Given the description of an element on the screen output the (x, y) to click on. 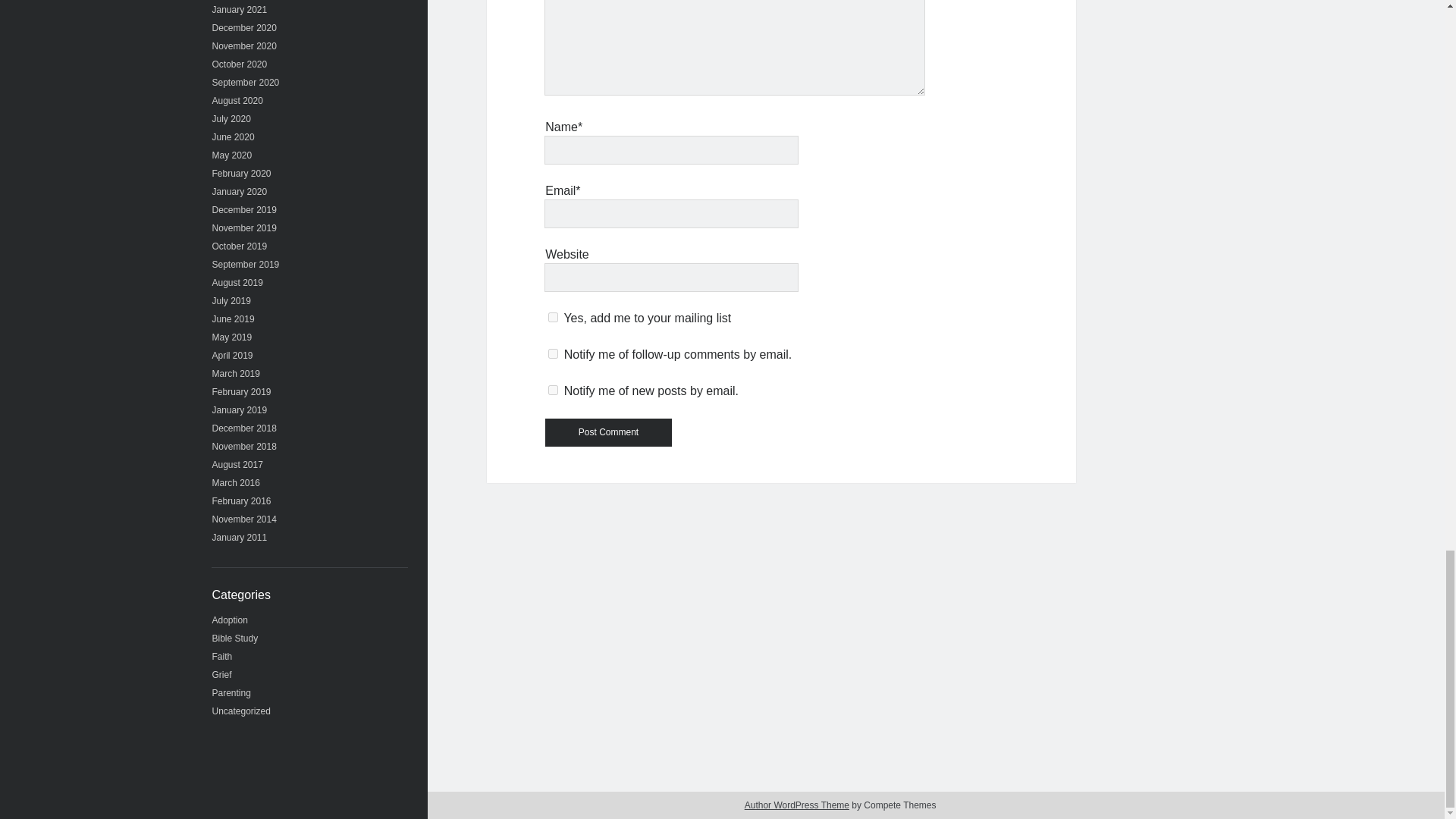
Post Comment (607, 432)
1 (552, 317)
subscribe (552, 353)
subscribe (552, 389)
